Given the description of an element on the screen output the (x, y) to click on. 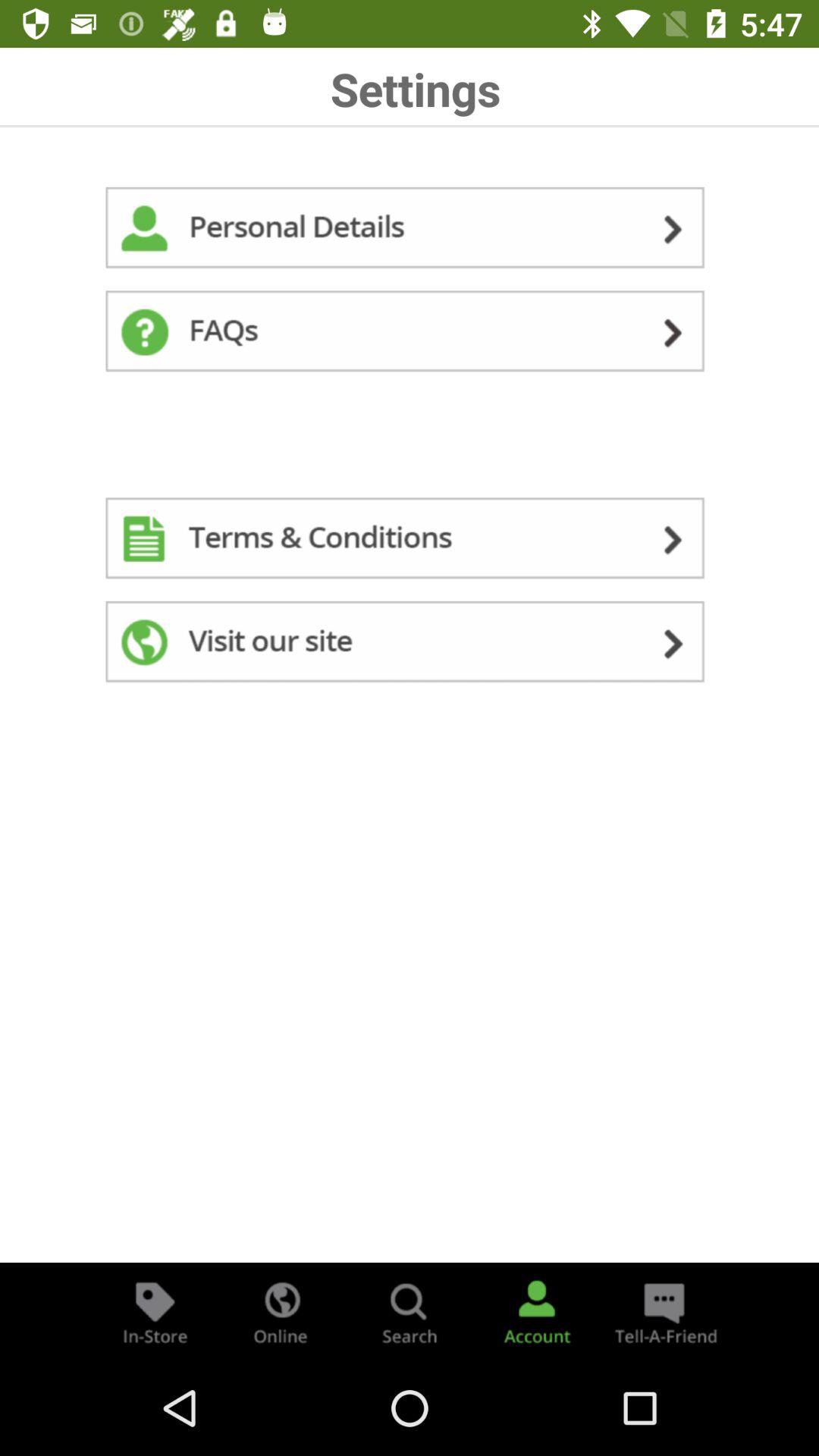
find stuff in-store (154, 1311)
